Given the description of an element on the screen output the (x, y) to click on. 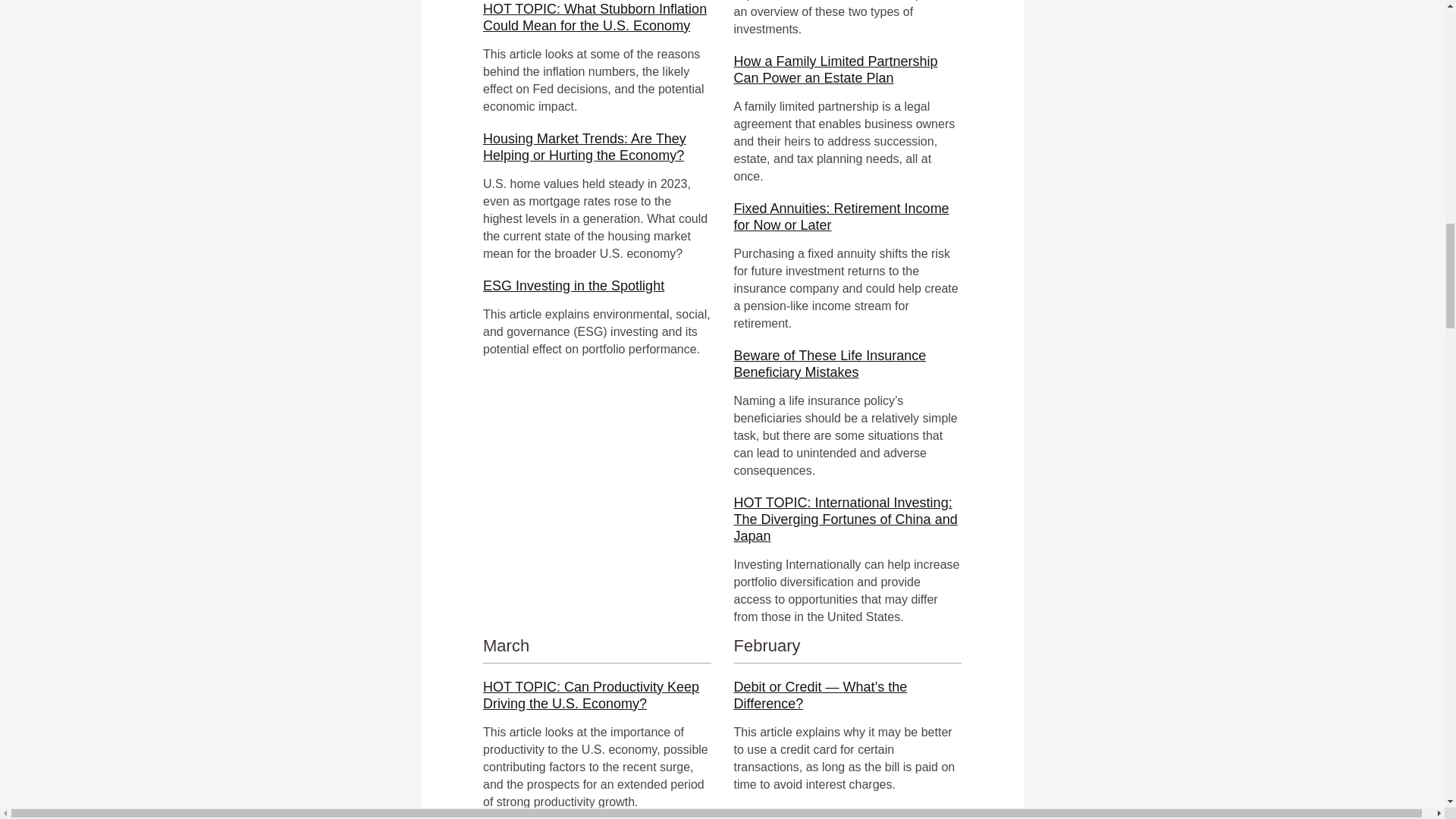
View the ESG Investing in the Spotlight (573, 285)
View the Fixed Annuities: Retirement Income for Now or Later (841, 216)
